Given the description of an element on the screen output the (x, y) to click on. 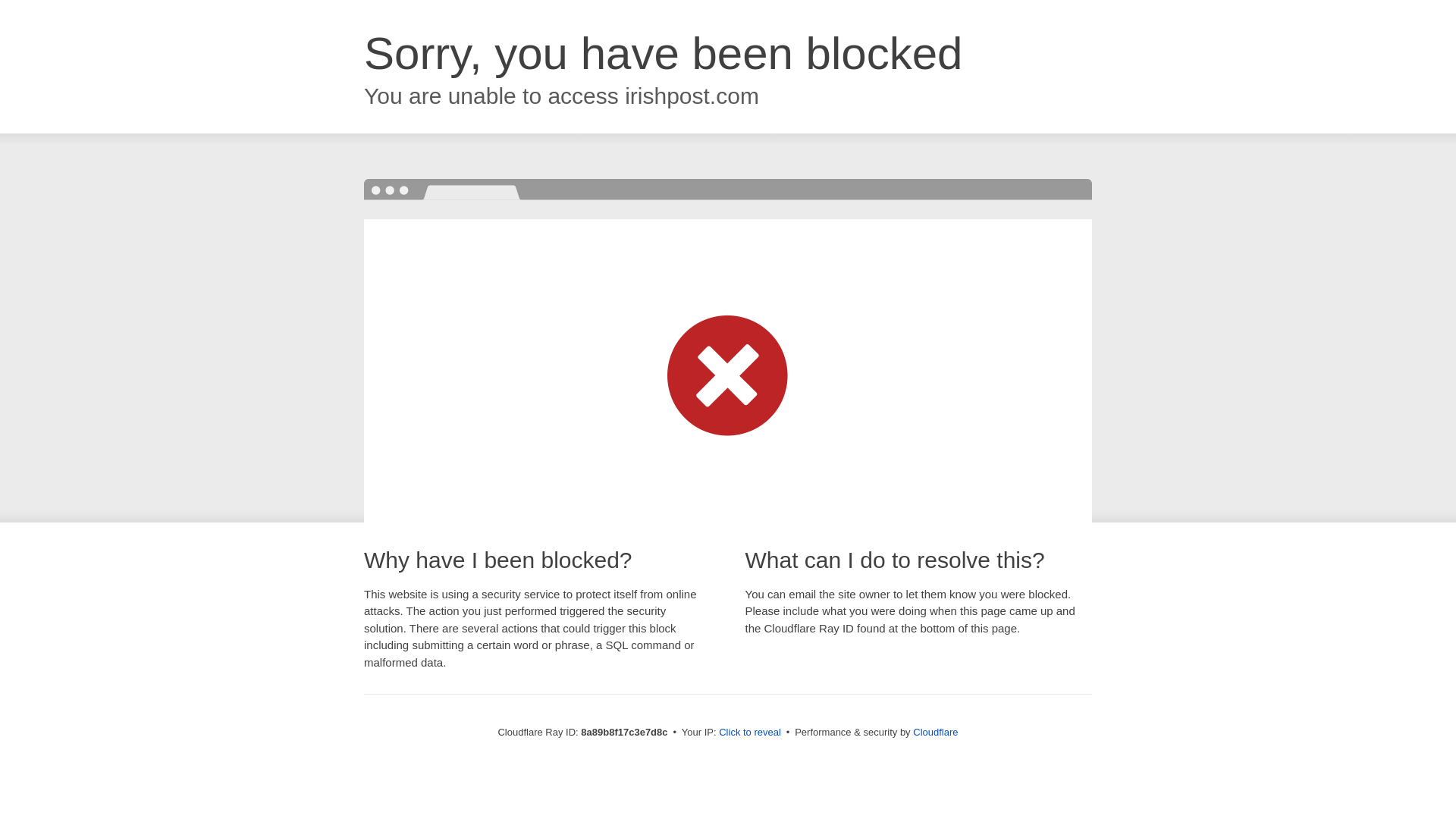
Click to reveal (749, 732)
Cloudflare (935, 731)
